Given the description of an element on the screen output the (x, y) to click on. 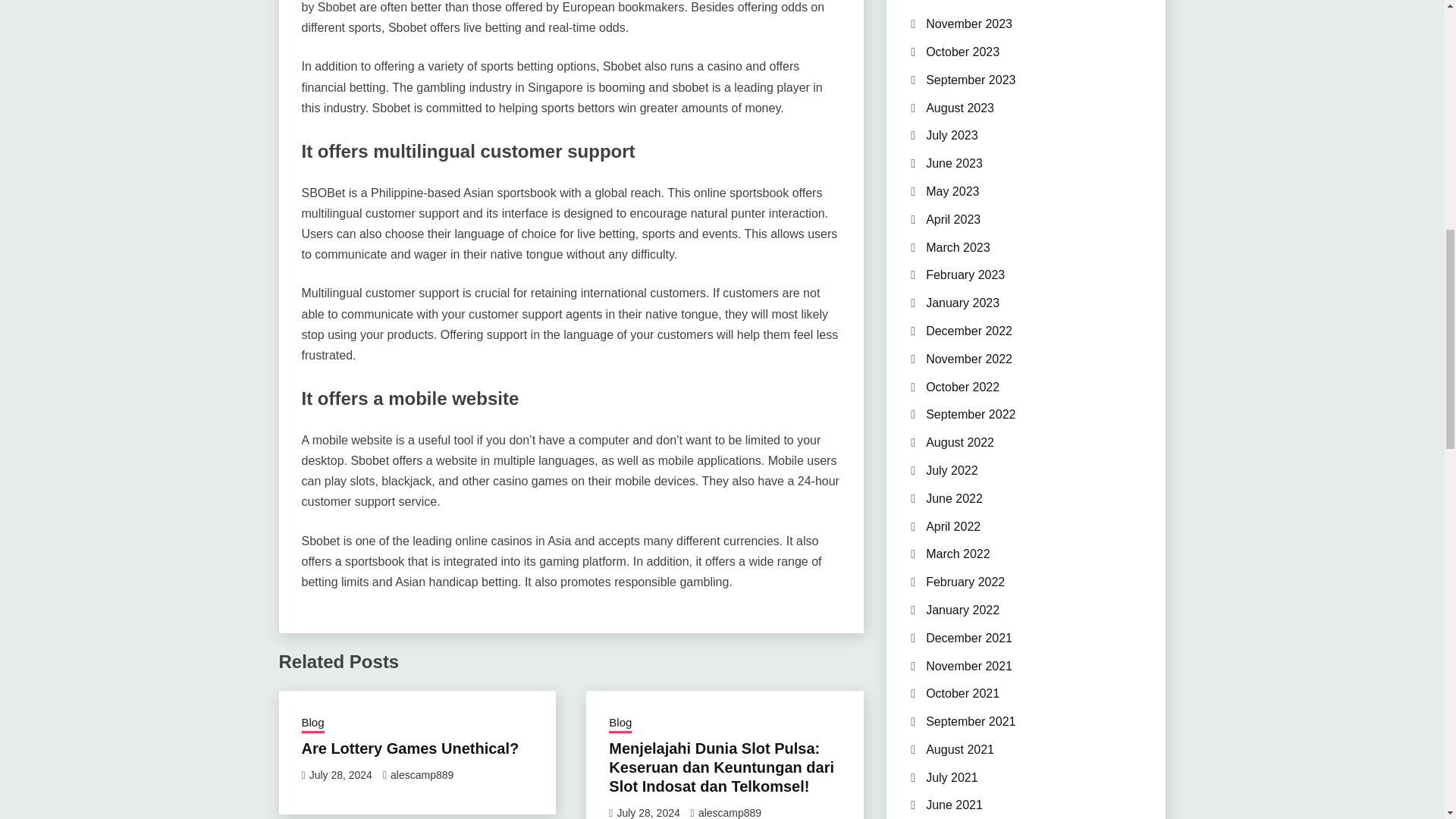
alescamp889 (729, 812)
July 28, 2024 (647, 812)
alescamp889 (421, 775)
Blog (312, 723)
Blog (619, 723)
July 28, 2024 (340, 775)
Are Lottery Games Unethical? (410, 748)
